Given the description of an element on the screen output the (x, y) to click on. 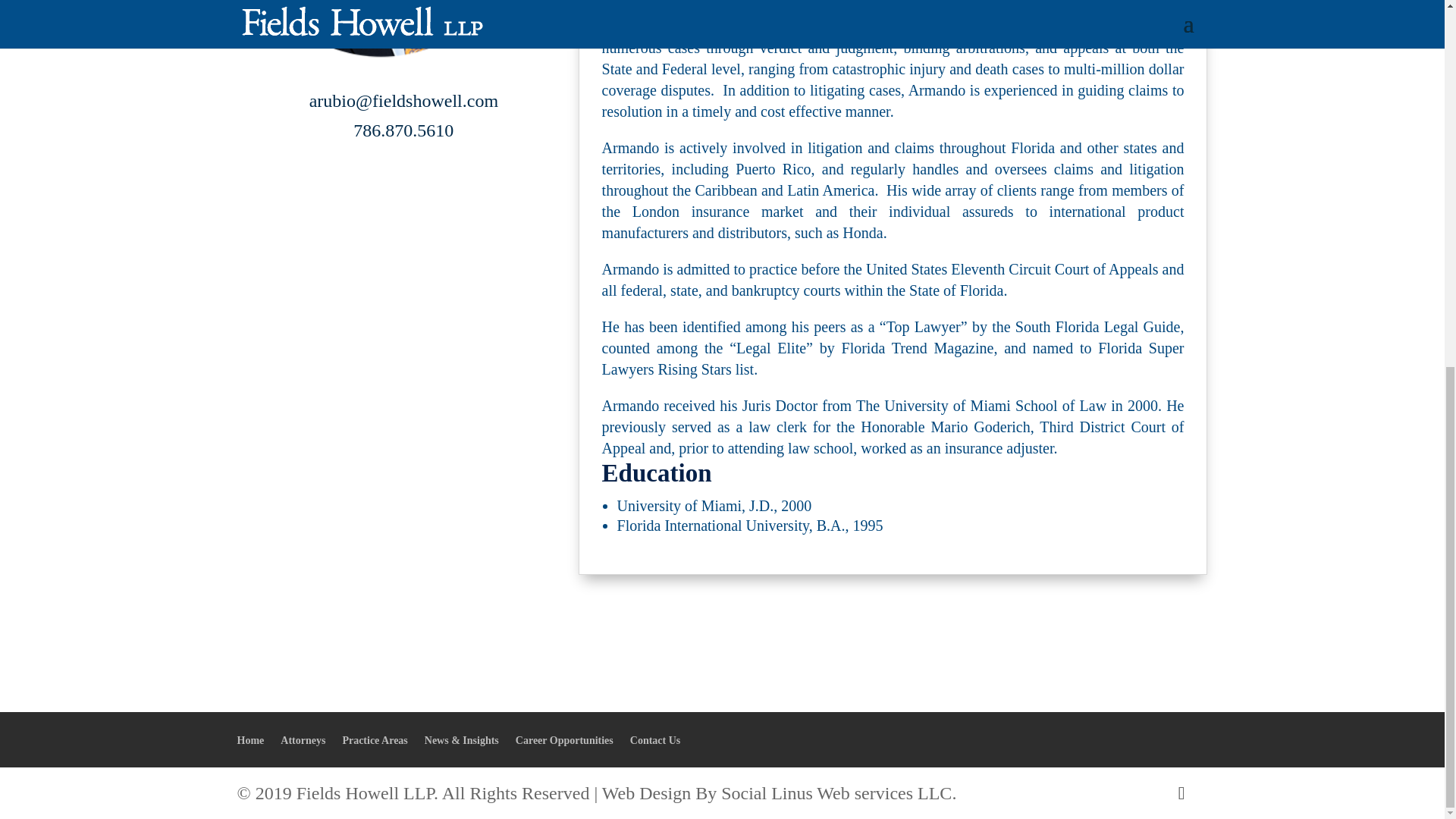
786.870.5610 (402, 130)
Contact Us (655, 740)
Attorneys (302, 740)
Practice Areas (374, 740)
Career Opportunities (563, 740)
Home (249, 740)
